Given the description of an element on the screen output the (x, y) to click on. 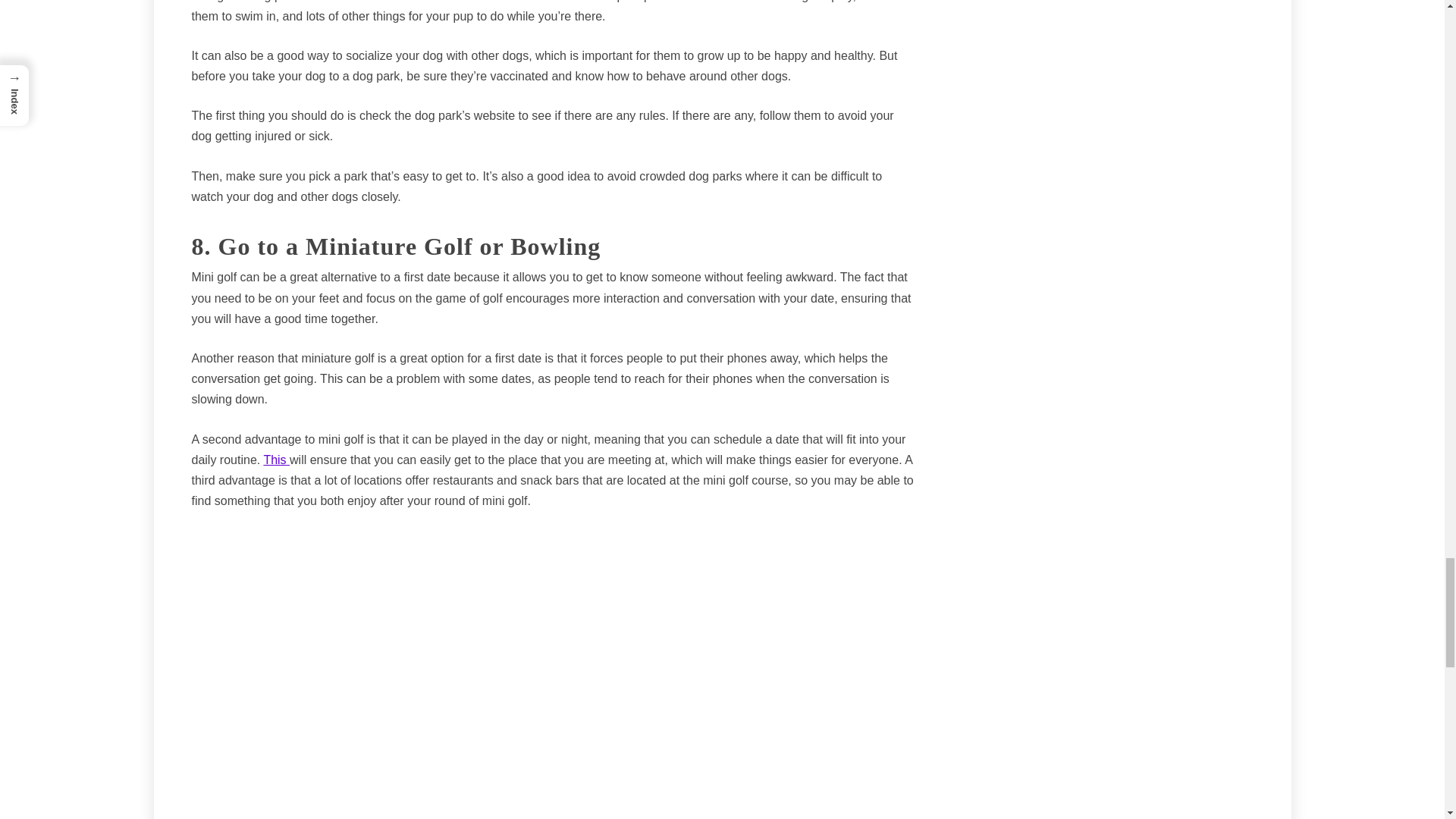
This (276, 459)
